Given the description of an element on the screen output the (x, y) to click on. 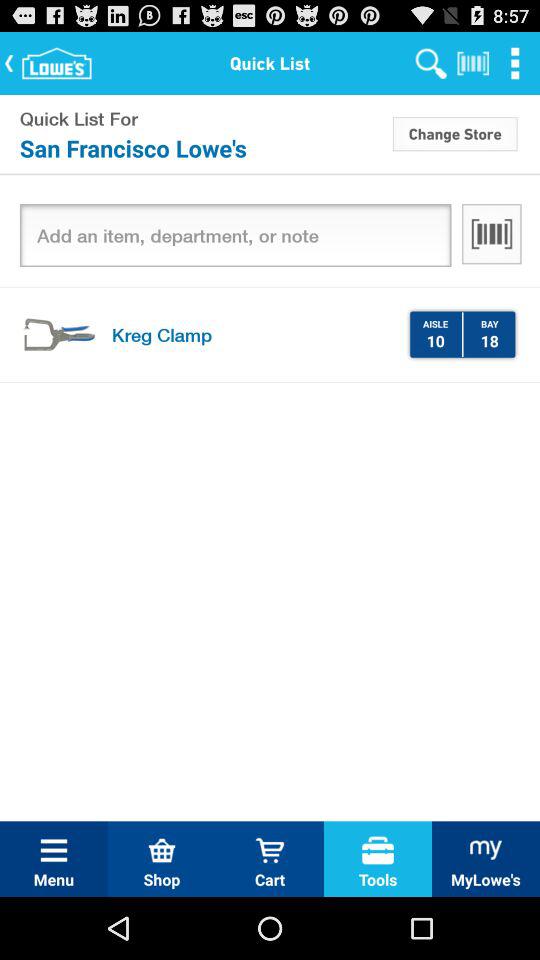
click the icon to the right of quick list for item (455, 133)
